Given the description of an element on the screen output the (x, y) to click on. 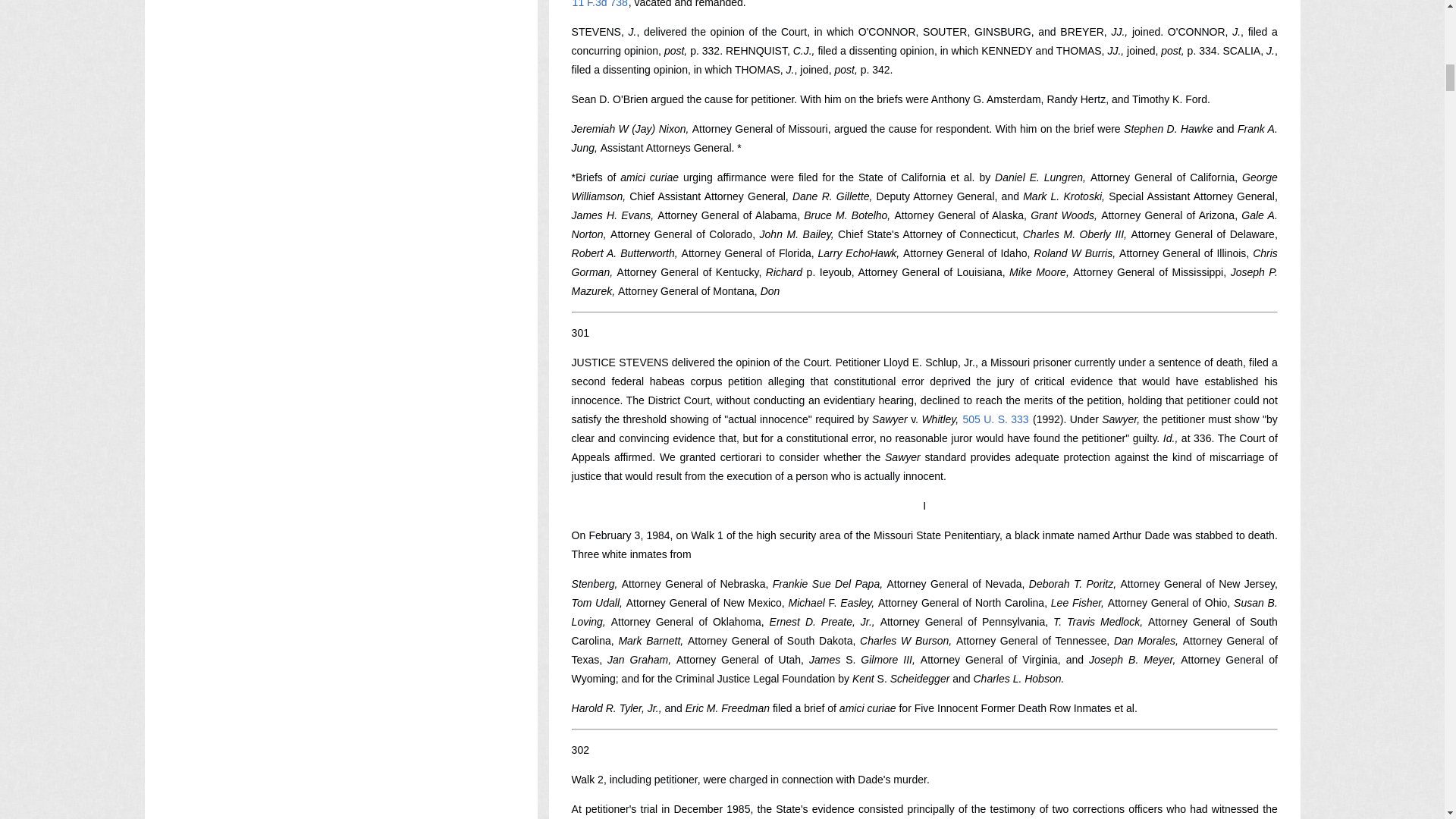
301 (580, 332)
302 (580, 749)
505 U. S. 333 (995, 419)
11 F.3d 738 (600, 4)
